Given the description of an element on the screen output the (x, y) to click on. 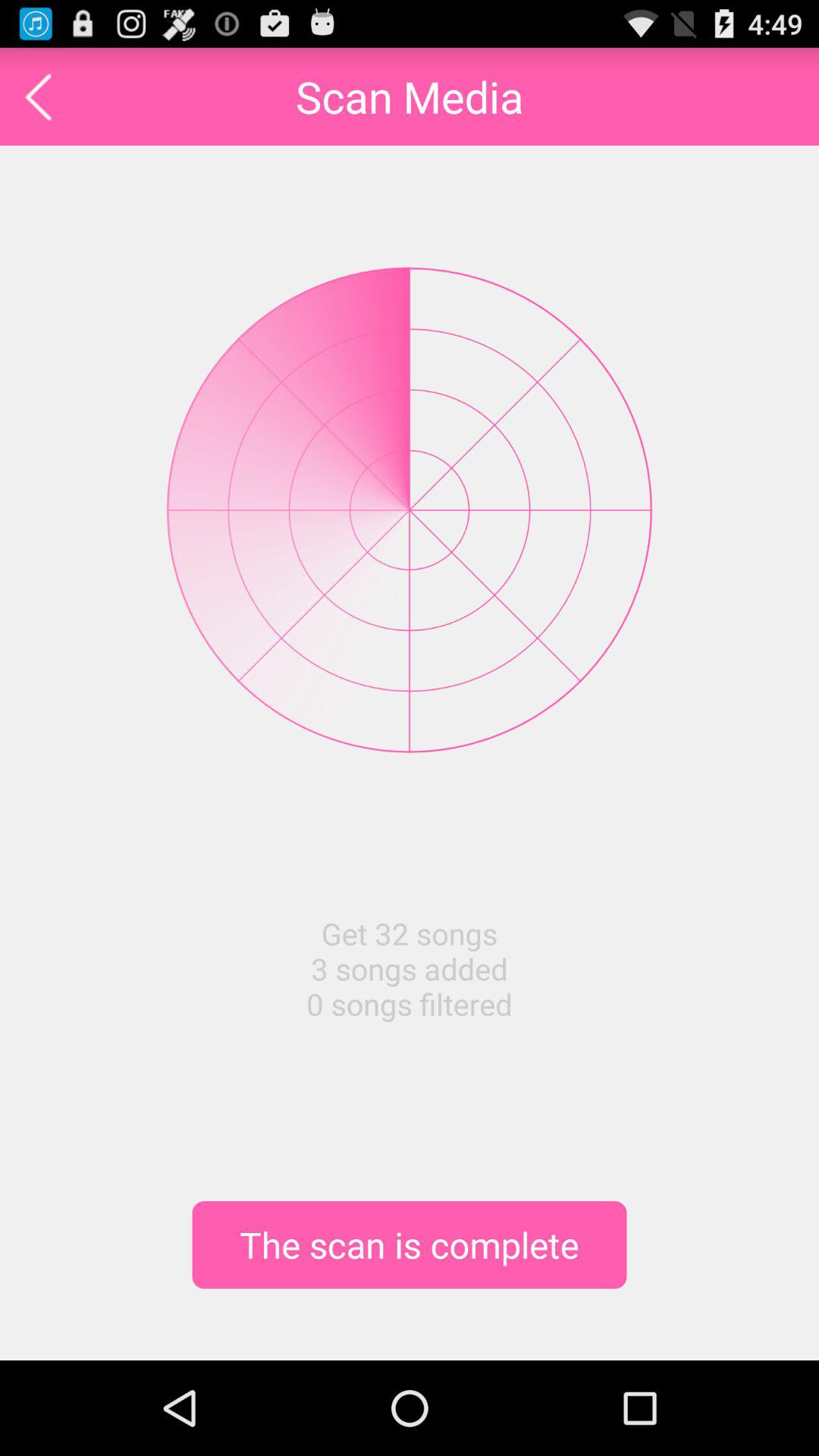
turn on the the scan is icon (409, 1244)
